Given the description of an element on the screen output the (x, y) to click on. 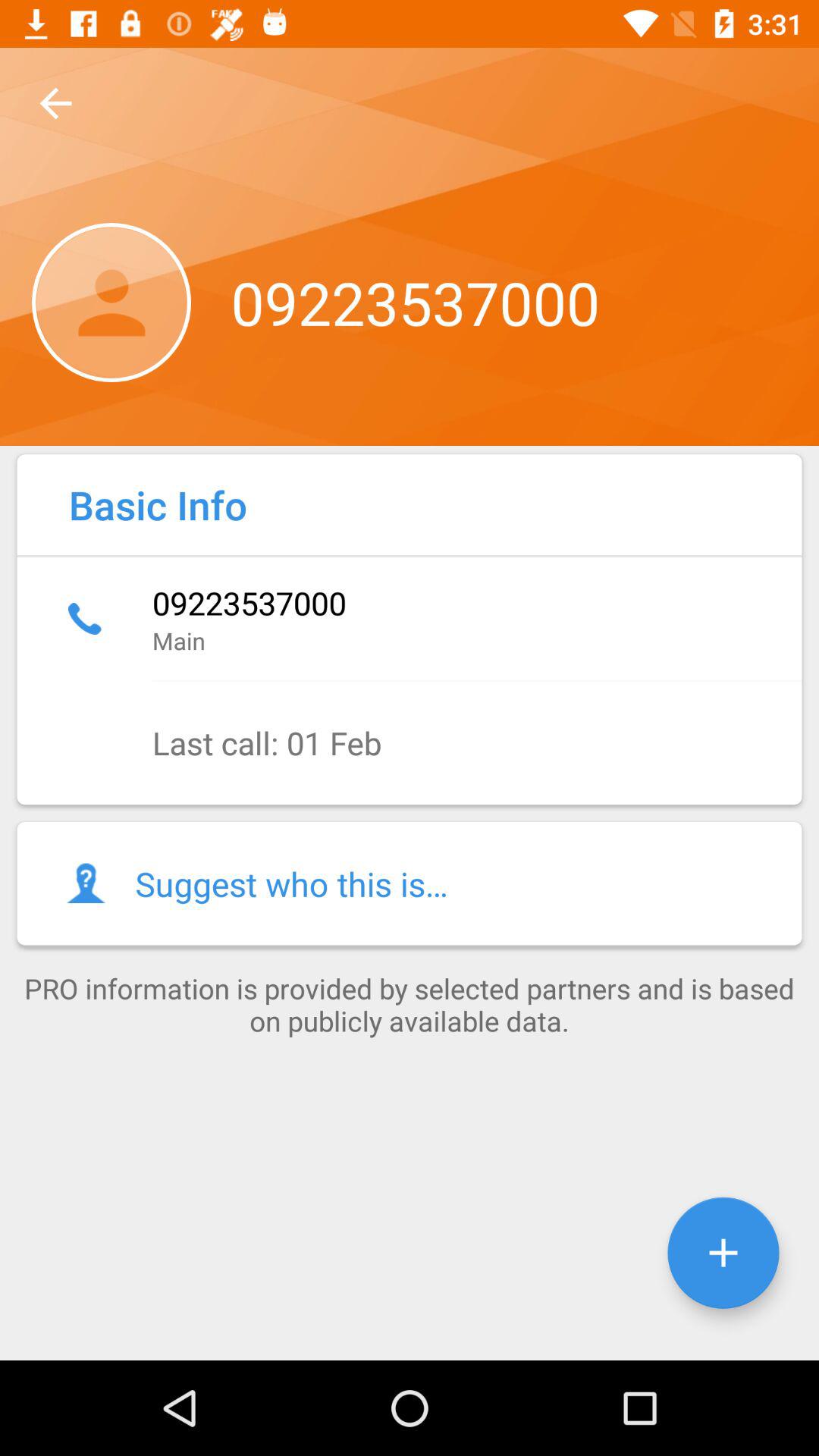
turn off suggest who this item (409, 883)
